Given the description of an element on the screen output the (x, y) to click on. 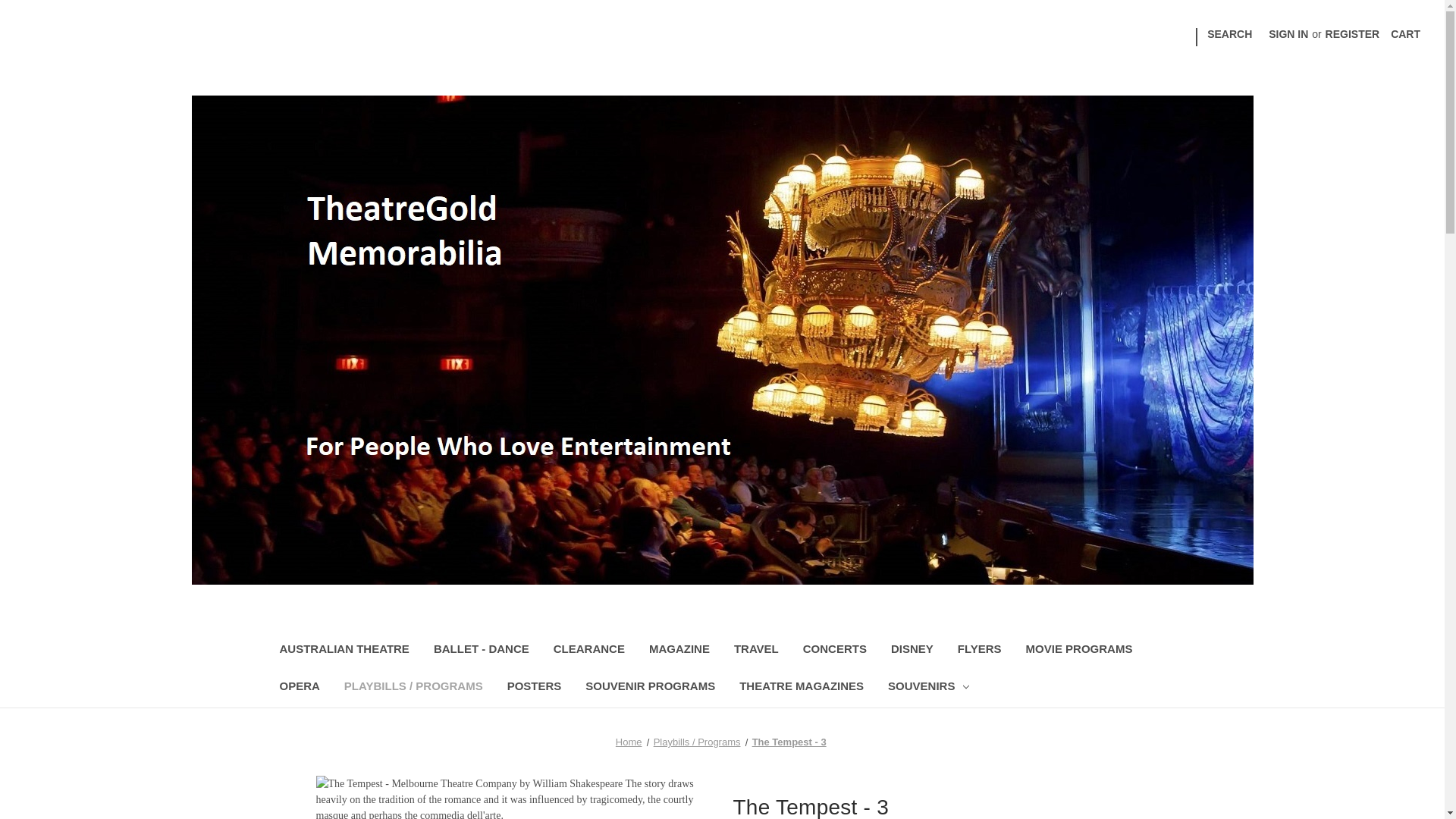
AUSTRALIAN THEATRE (343, 650)
SEARCH (1229, 34)
SOUVENIR PROGRAMS (649, 687)
OPERA (298, 687)
The Tempest - 3 (789, 741)
MAGAZINE (679, 650)
MOVIE PROGRAMS (1078, 650)
CLEARANCE (589, 650)
BALLET - DANCE (481, 650)
